Given the description of an element on the screen output the (x, y) to click on. 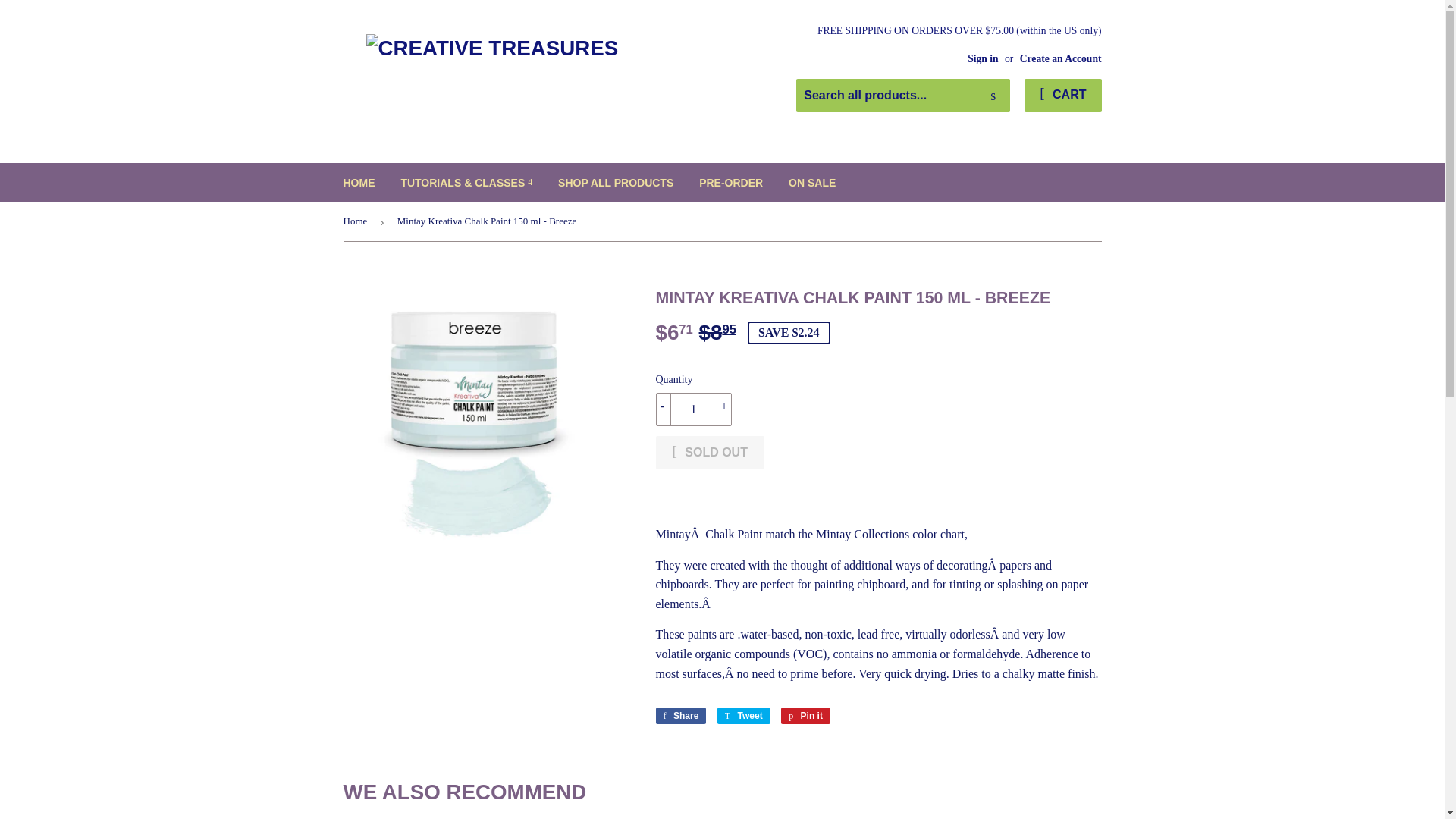
Search (804, 715)
ON SALE (992, 96)
Pin on Pinterest (812, 182)
CART (804, 715)
PRE-ORDER (680, 715)
Tweet on Twitter (1062, 95)
Sign in (730, 182)
HOME (743, 715)
Share on Facebook (982, 58)
SOLD OUT (359, 182)
1 (680, 715)
Create an Account (708, 452)
